Given the description of an element on the screen output the (x, y) to click on. 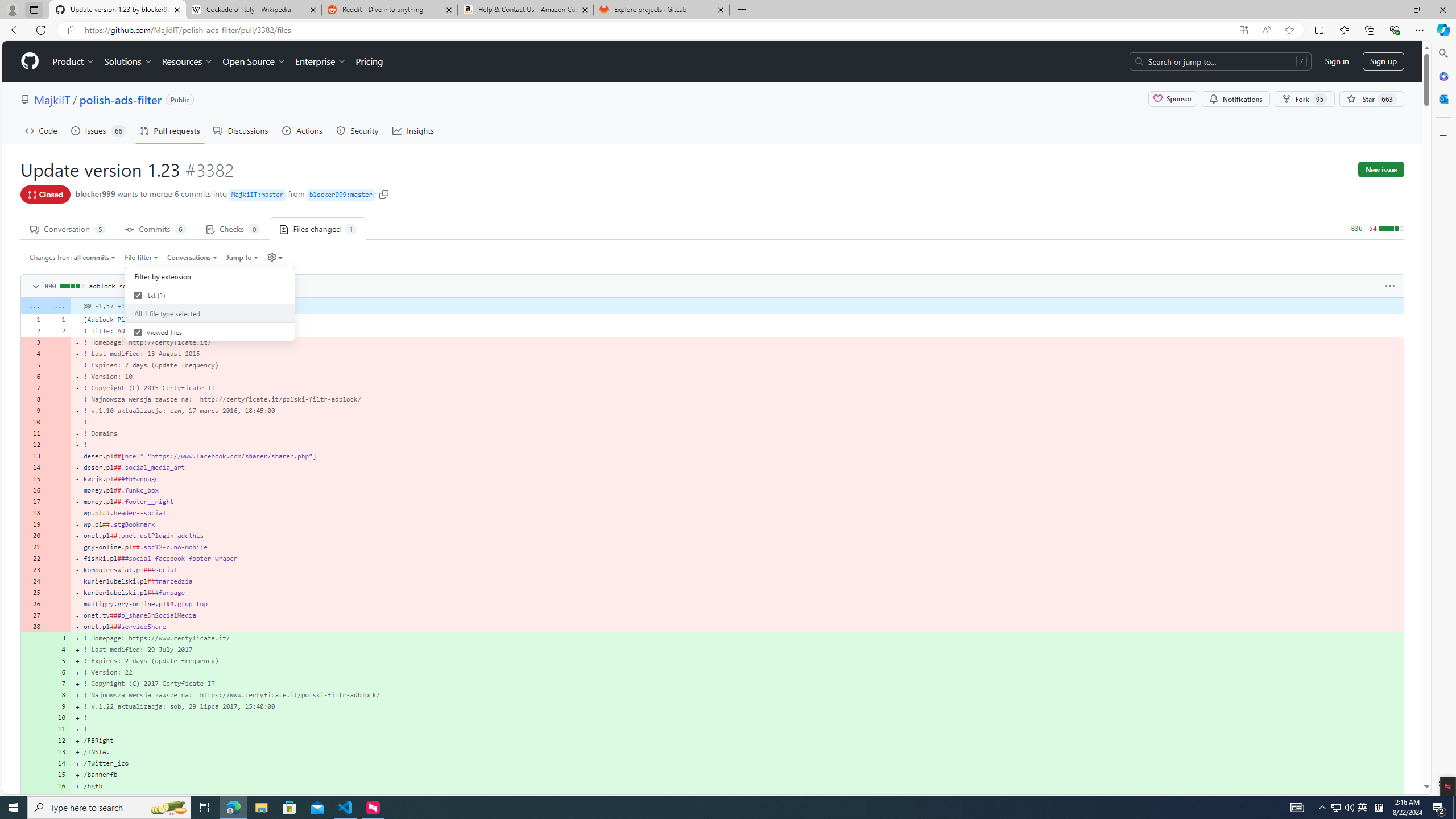
13 (58, 751)
Issues 66 (98, 130)
Sign up (1382, 61)
Cockade of Italy - Wikipedia (253, 9)
Class: blob-num blob-num-deletion empty-cell (58, 626)
Conversations (192, 257)
- wp.pl##.stgBookmark (737, 523)
- money.pl##.footer__right (737, 501)
Pull requests (170, 130)
